Given the description of an element on the screen output the (x, y) to click on. 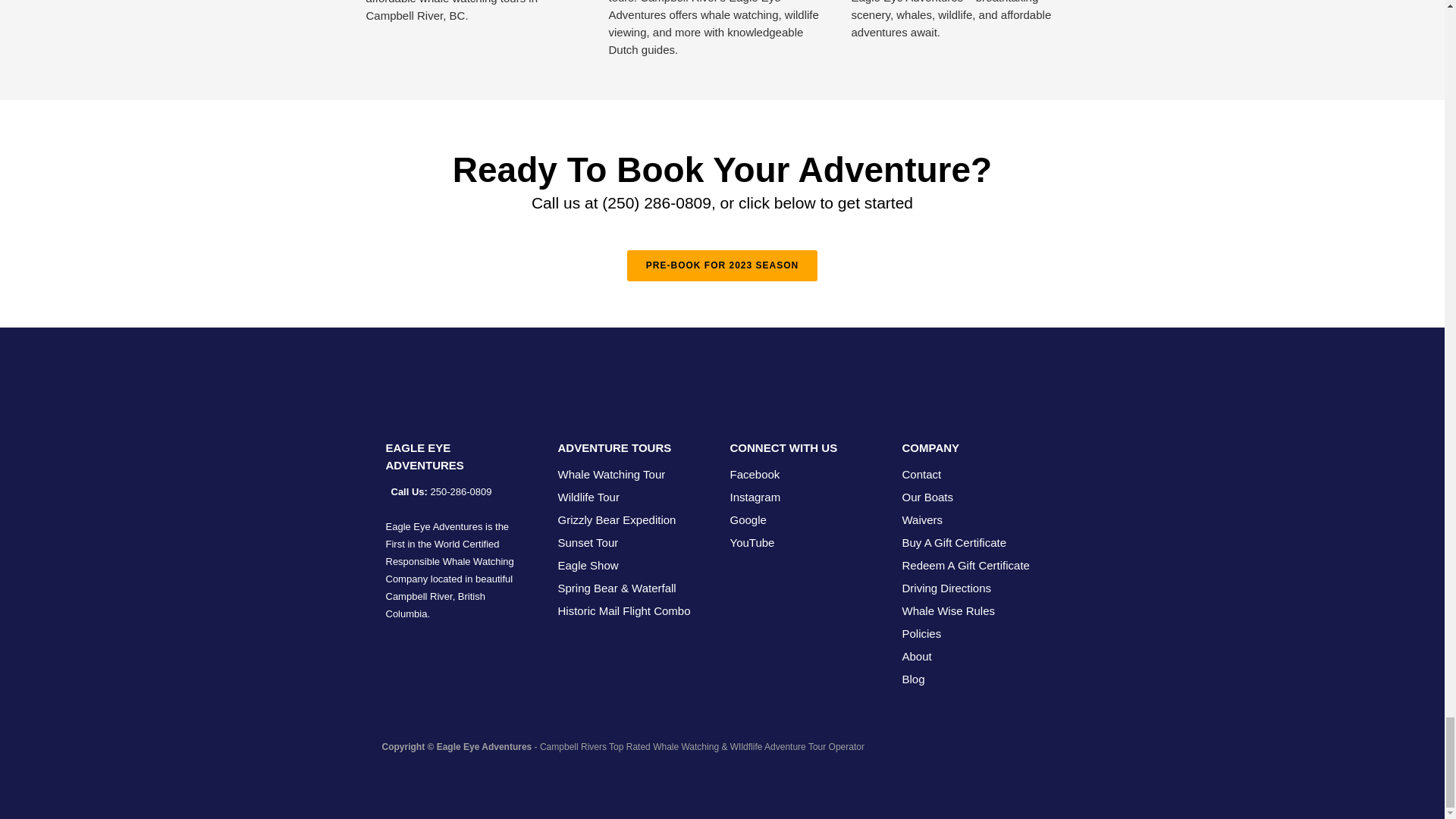
PRE-BOOK FOR 2023 SEASON (721, 265)
